Given the description of an element on the screen output the (x, y) to click on. 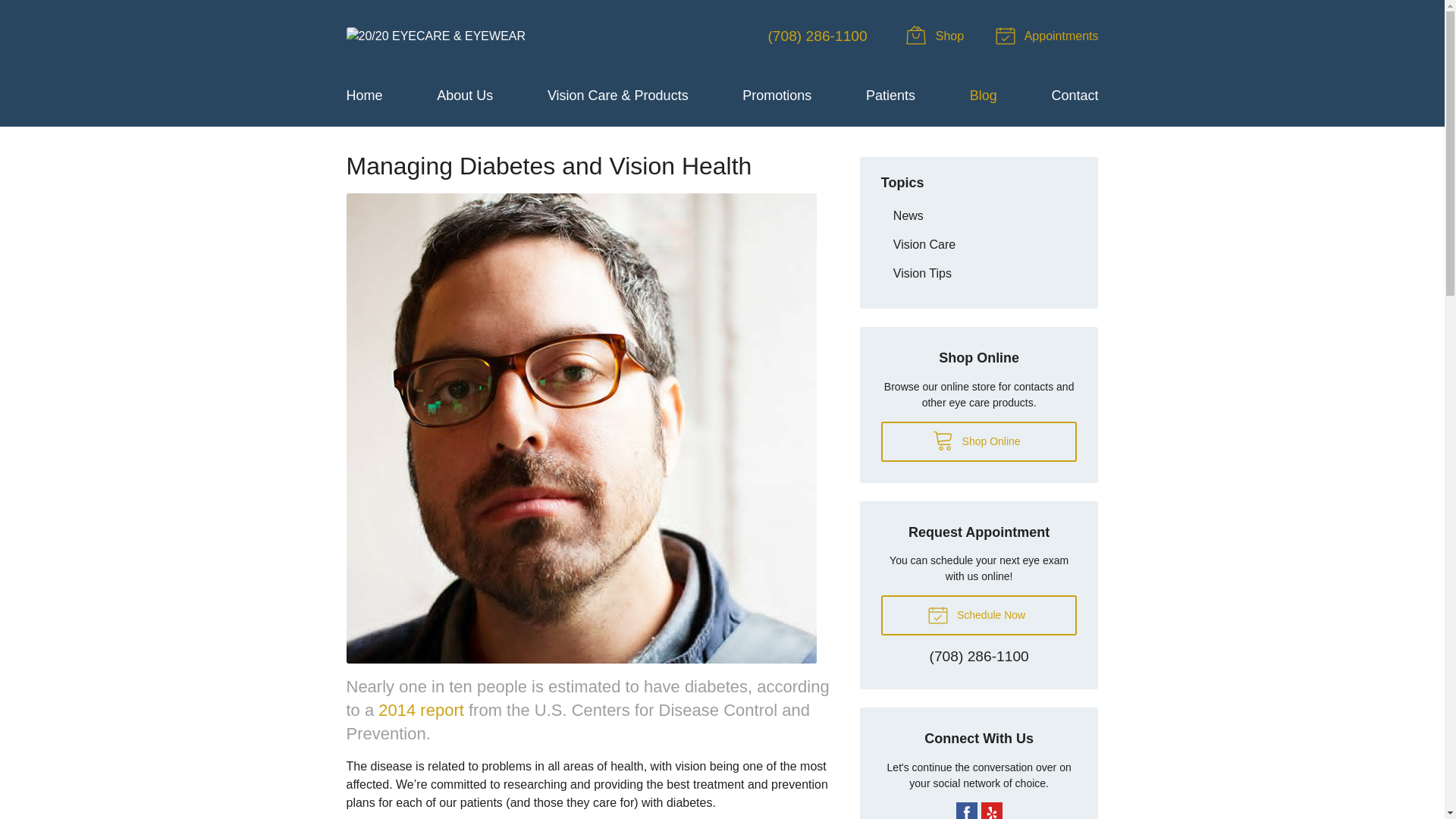
Contact (1074, 95)
Shop (937, 36)
Appointments (1048, 36)
Patients (890, 95)
Shop Online (978, 441)
2014 report (421, 710)
Go to our Yelp Page (992, 810)
Home (363, 95)
Call practice (979, 657)
Promotions (776, 95)
